Given the description of an element on the screen output the (x, y) to click on. 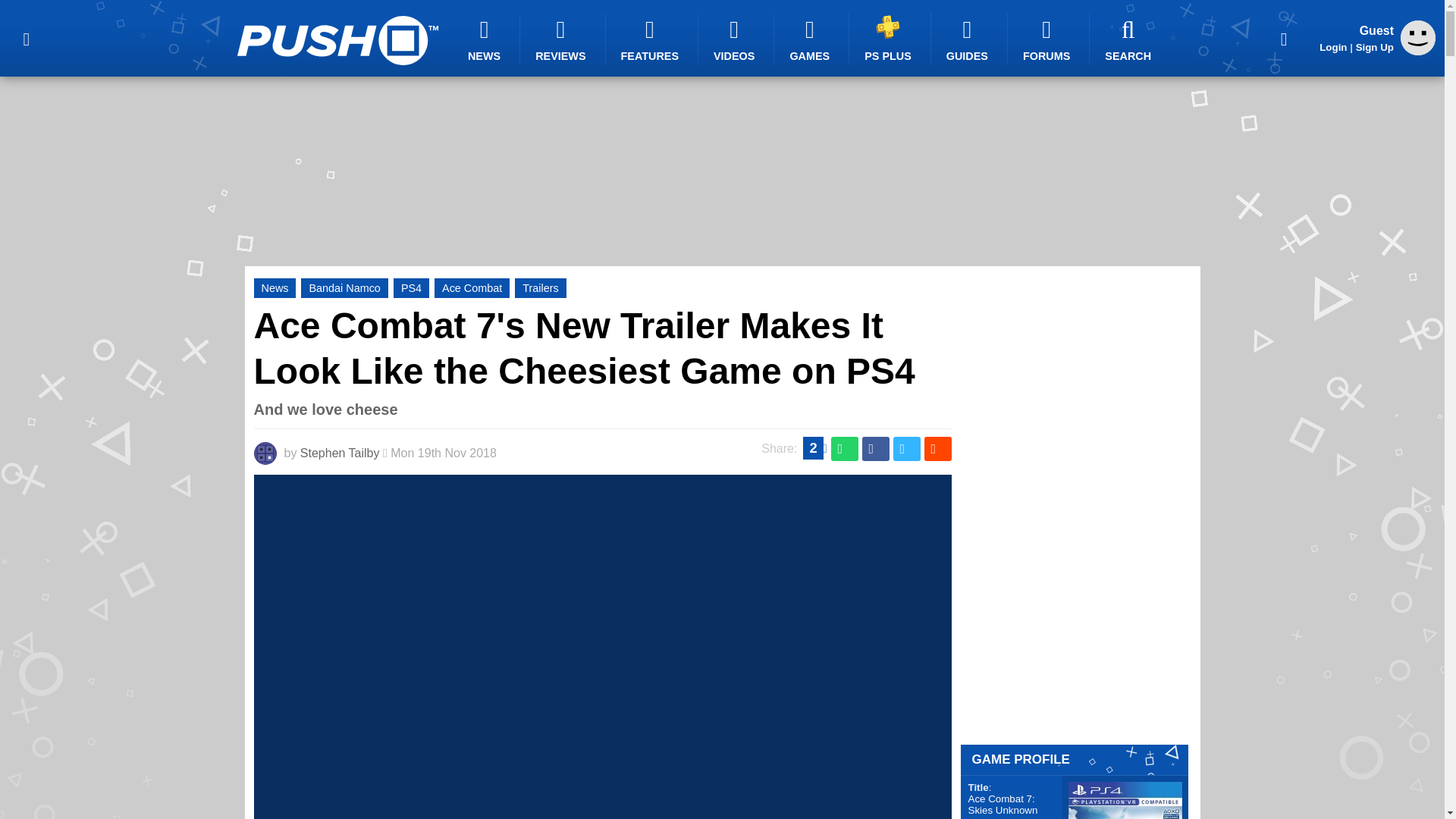
PS4 (411, 288)
Login (1332, 47)
Share This Page (1283, 37)
PS PLUS (889, 38)
GAMES (811, 39)
Menu (26, 37)
Share this on Facebook (874, 448)
Sign Up (1374, 47)
Trailers (540, 288)
